Given the description of an element on the screen output the (x, y) to click on. 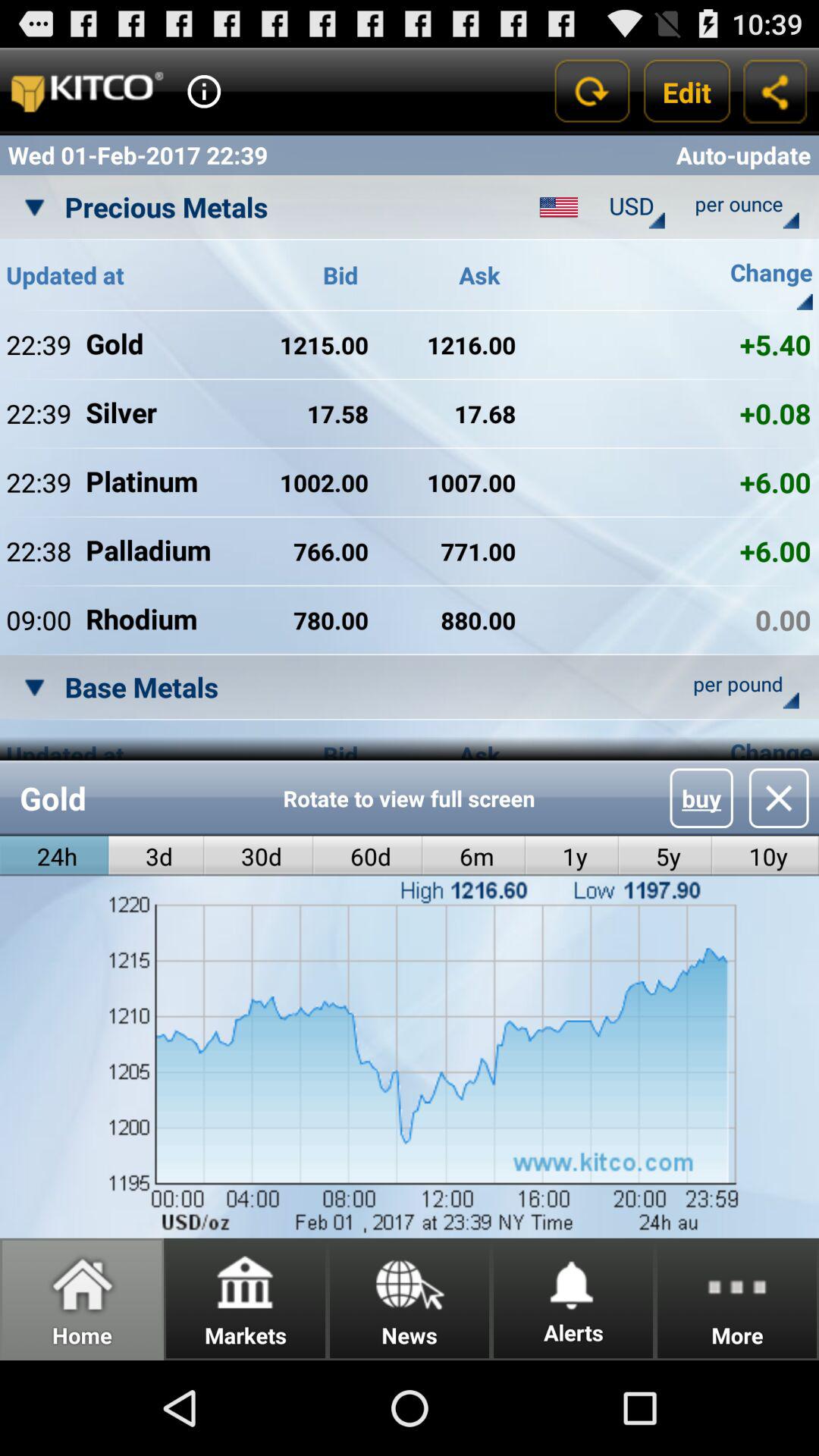
launch icon above the 10y icon (778, 798)
